Given the description of an element on the screen output the (x, y) to click on. 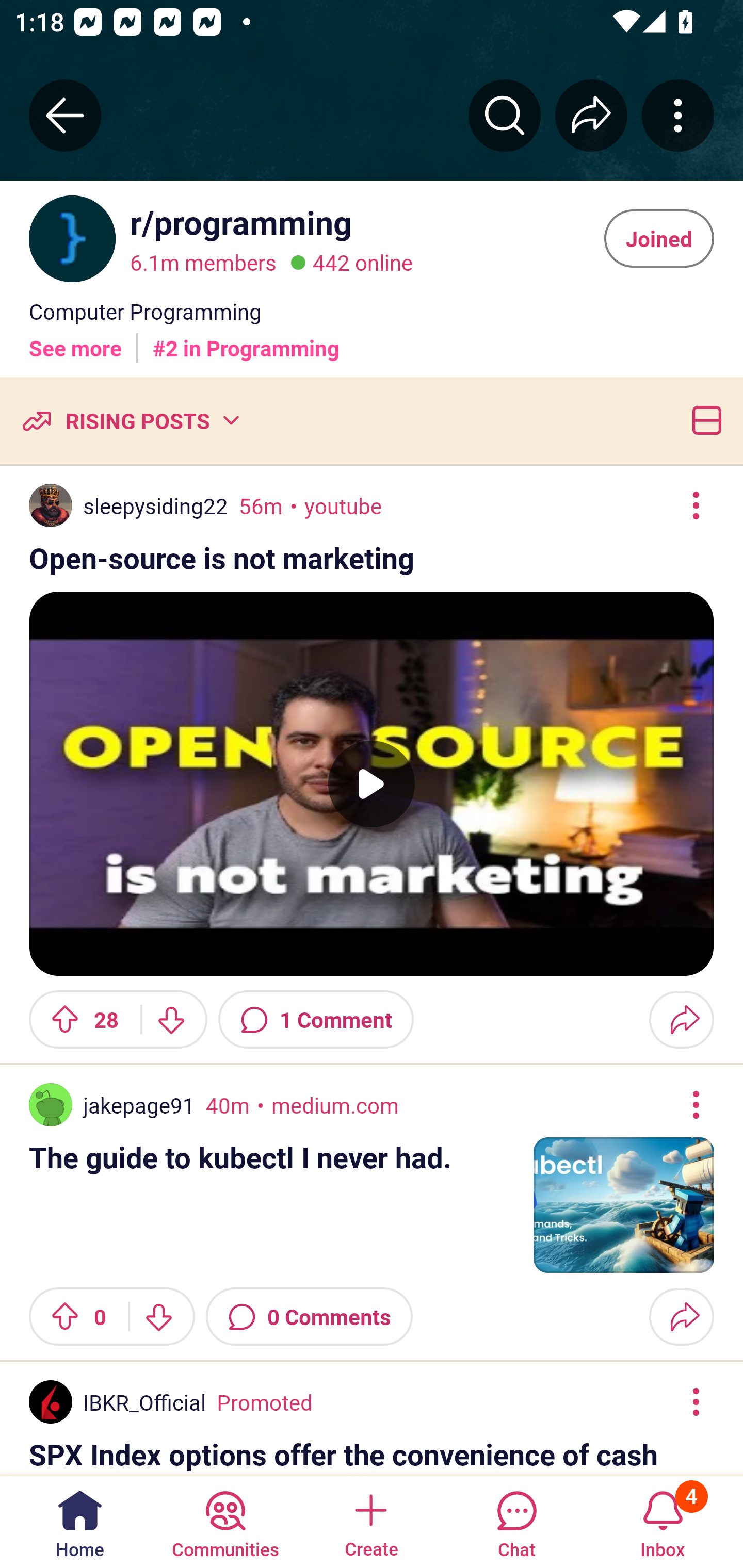
Back (64, 115)
Search r/﻿programming (504, 115)
Share r/﻿programming (591, 115)
More community actions (677, 115)
Rising posts RISING POSTS (130, 420)
Card (703, 420)
Home (80, 1520)
Communities (225, 1520)
Create a post Create (370, 1520)
Chat (516, 1520)
Inbox, has 4 notifications 4 Inbox (662, 1520)
